Given the description of an element on the screen output the (x, y) to click on. 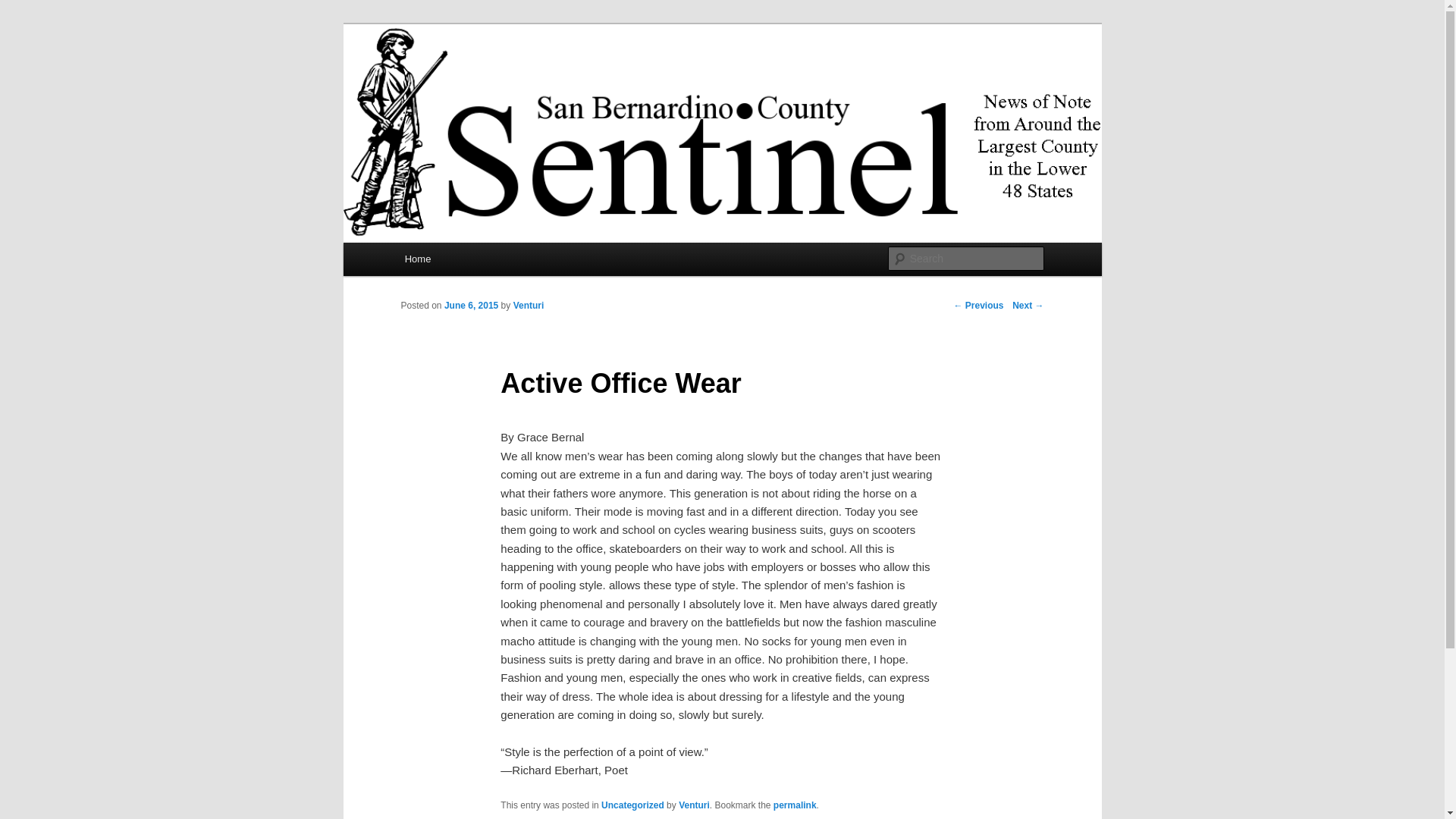
Skip to primary content (472, 261)
Venturi (528, 305)
View all posts by Venturi (528, 305)
Skip to secondary content (479, 261)
Search (24, 8)
Venturi (694, 805)
SBCSentinel (468, 78)
Permalink to Active Office Wear (794, 805)
June 6, 2015 (470, 305)
Uncategorized (632, 805)
Home (417, 258)
SBCSentinel (468, 78)
Skip to secondary content (479, 261)
10:34 AM (470, 305)
permalink (794, 805)
